Given the description of an element on the screen output the (x, y) to click on. 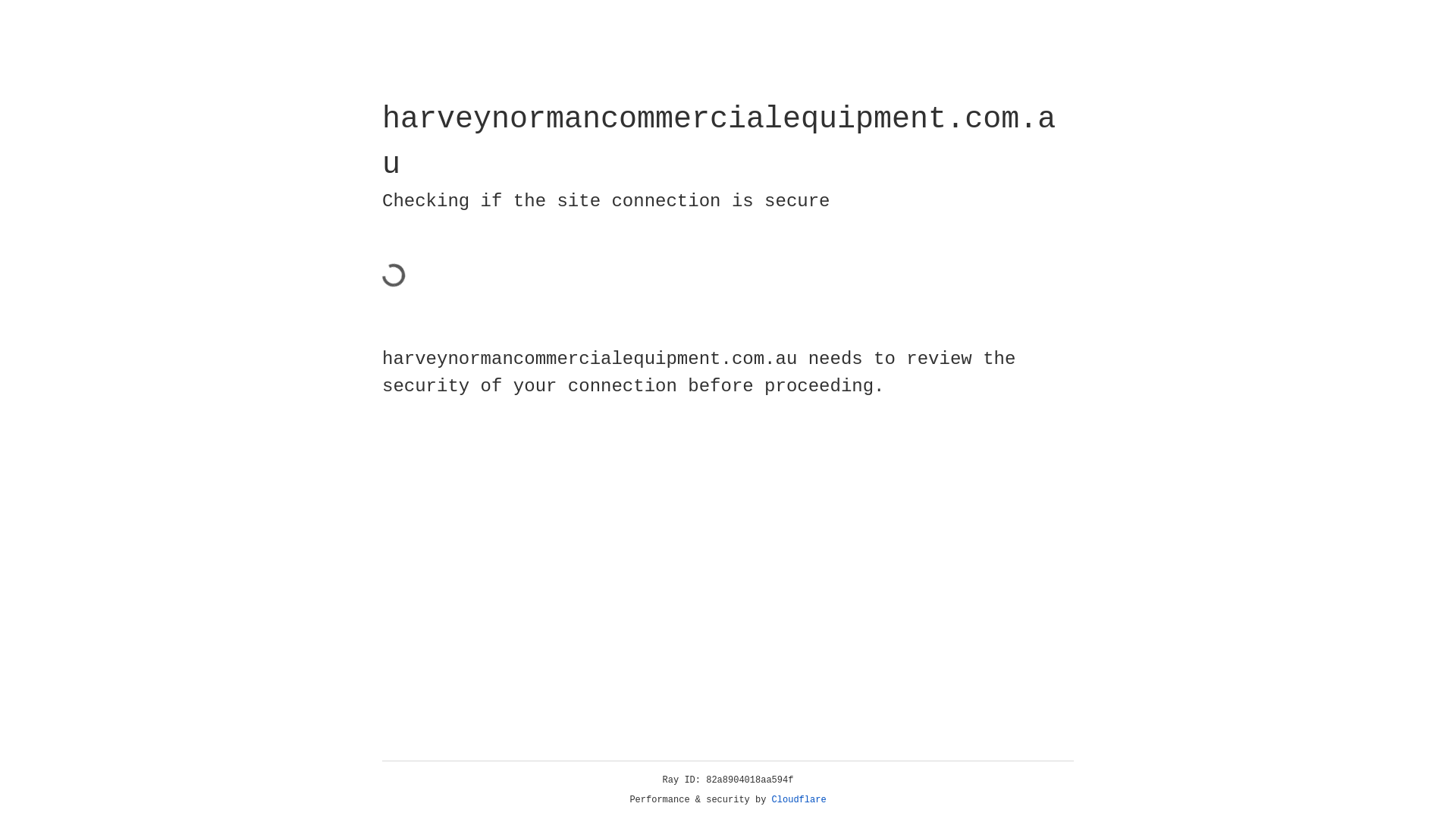
Cloudflare Element type: text (798, 799)
